Given the description of an element on the screen output the (x, y) to click on. 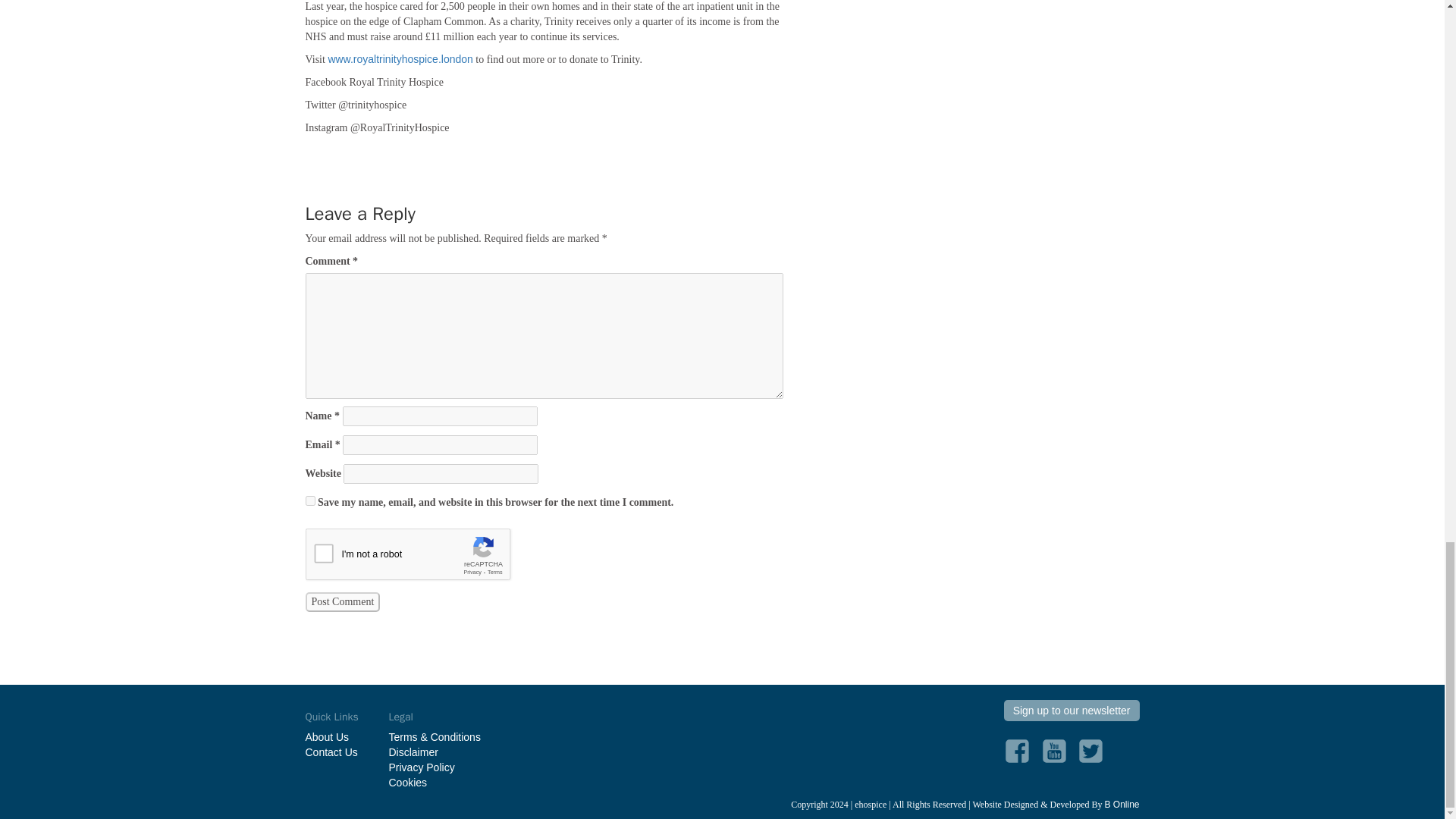
Post Comment (342, 601)
reCAPTCHA (419, 558)
yes (309, 501)
